Given the description of an element on the screen output the (x, y) to click on. 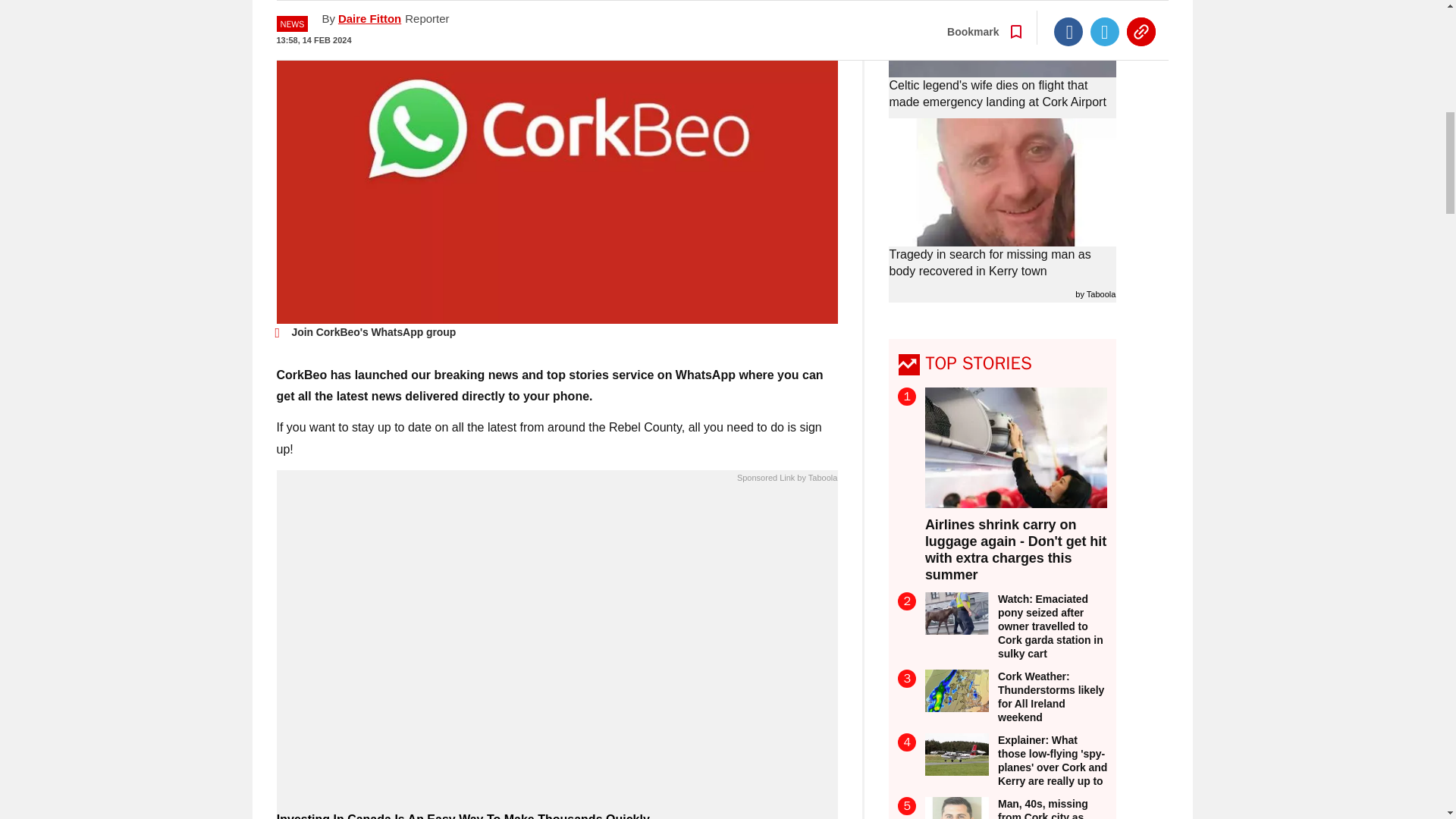
Investing In Canada Is An Easy Way To Make Thousands Quickly (557, 815)
